Given the description of an element on the screen output the (x, y) to click on. 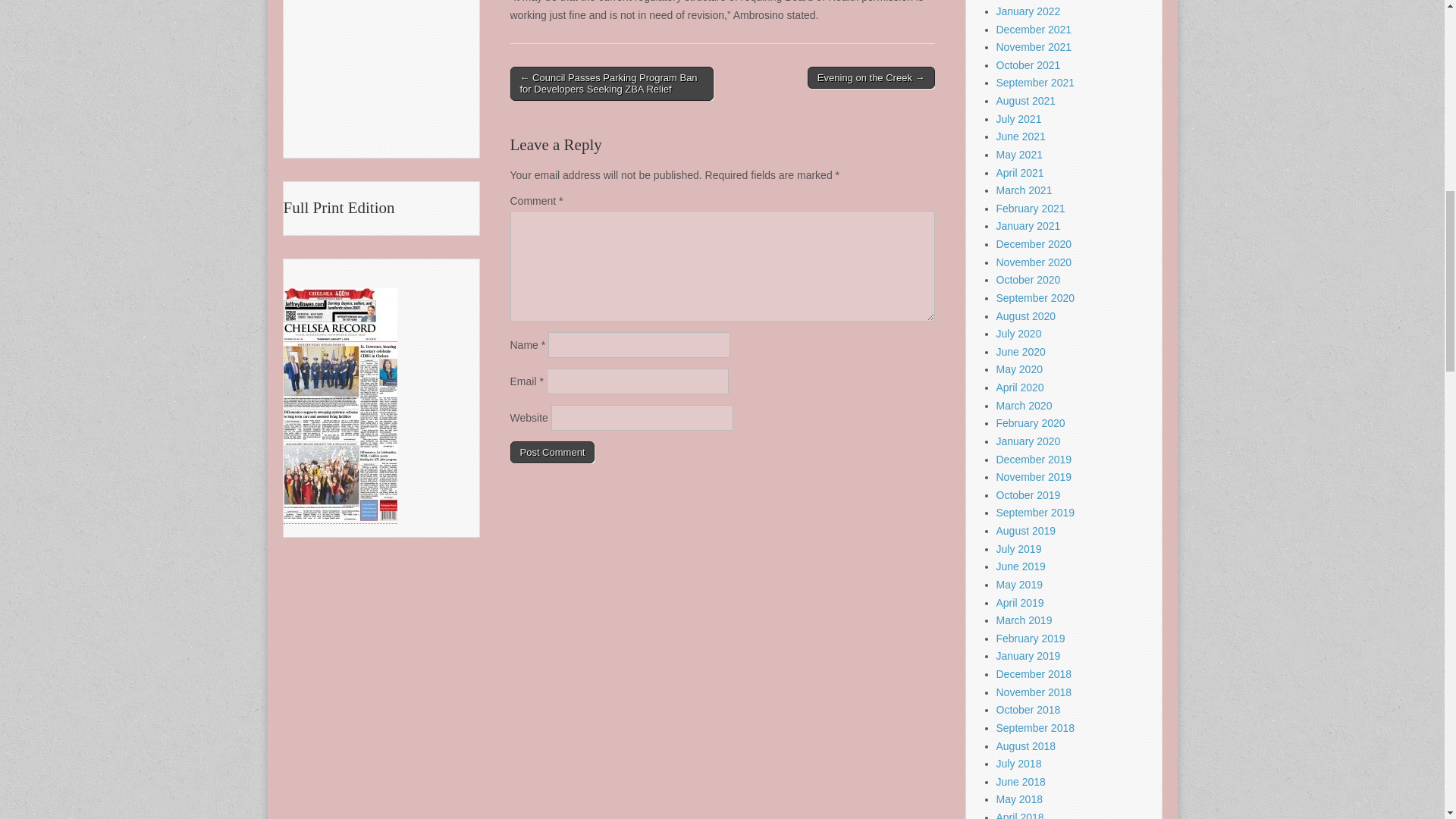
Post Comment (551, 452)
Post Comment (551, 452)
